Given the description of an element on the screen output the (x, y) to click on. 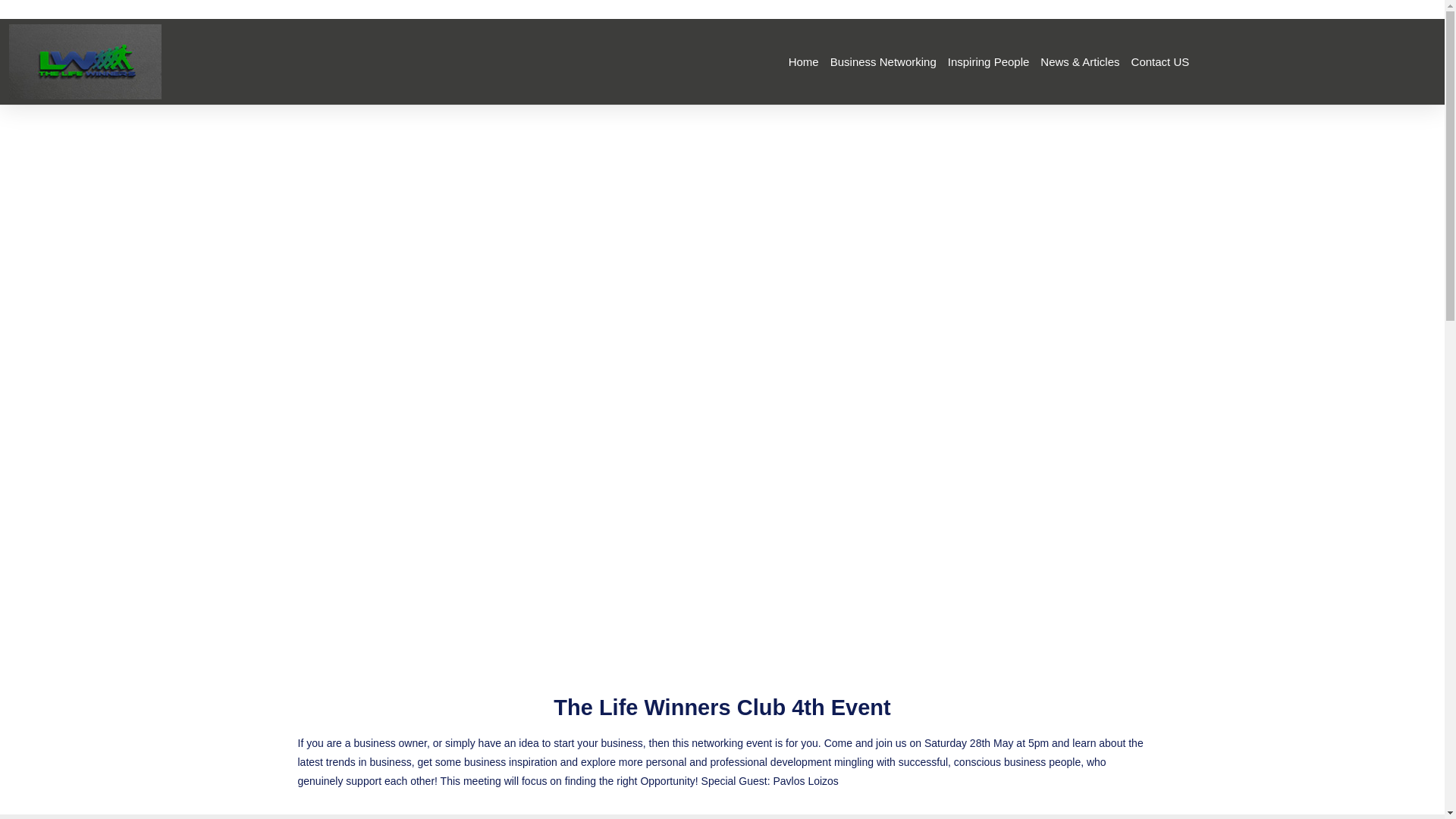
Contact US (1160, 61)
Business Networking (882, 61)
Inspiring People (988, 61)
